Given the description of an element on the screen output the (x, y) to click on. 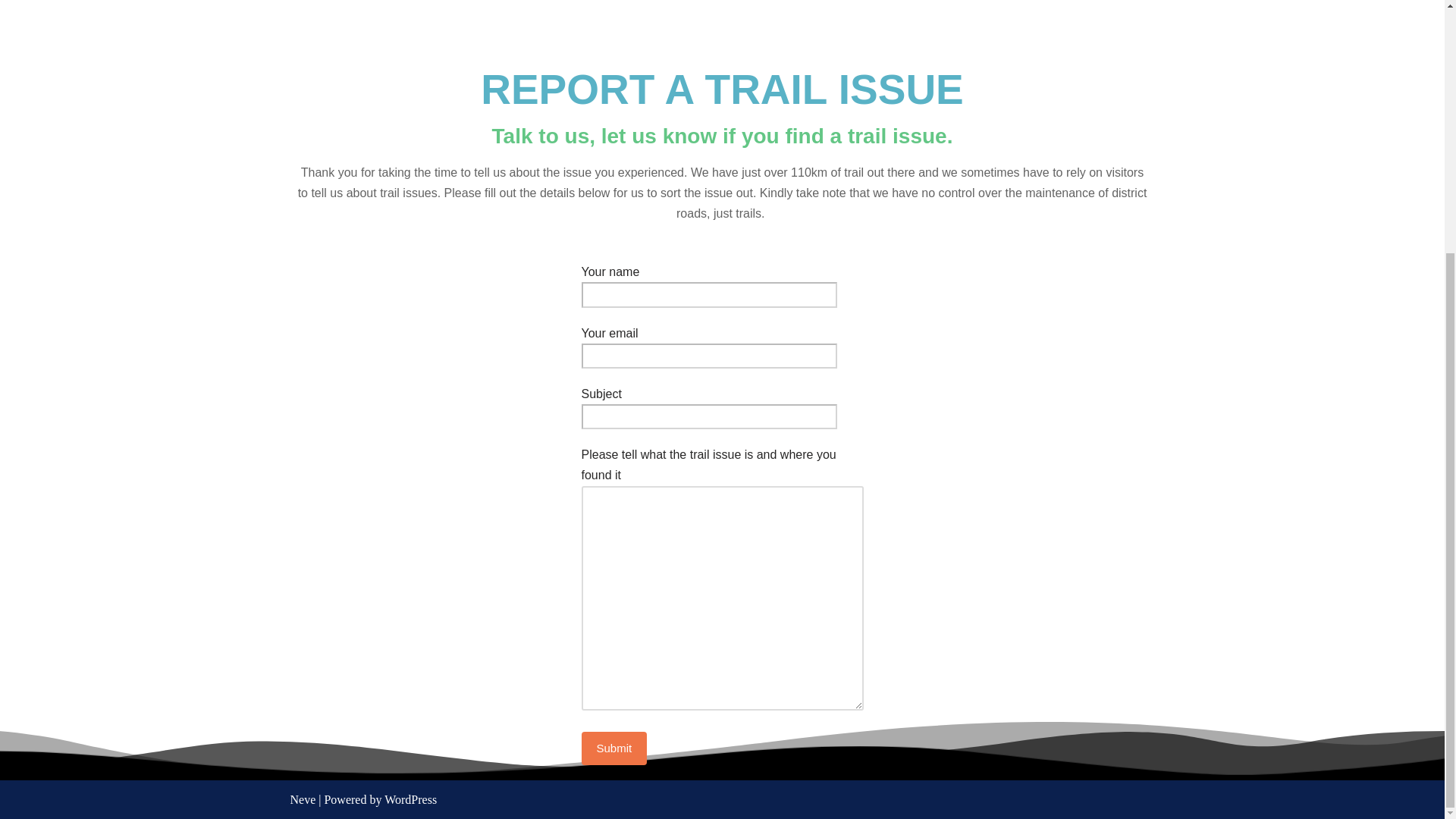
Submit (613, 748)
Neve (302, 799)
Submit (613, 748)
WordPress (410, 799)
